Given the description of an element on the screen output the (x, y) to click on. 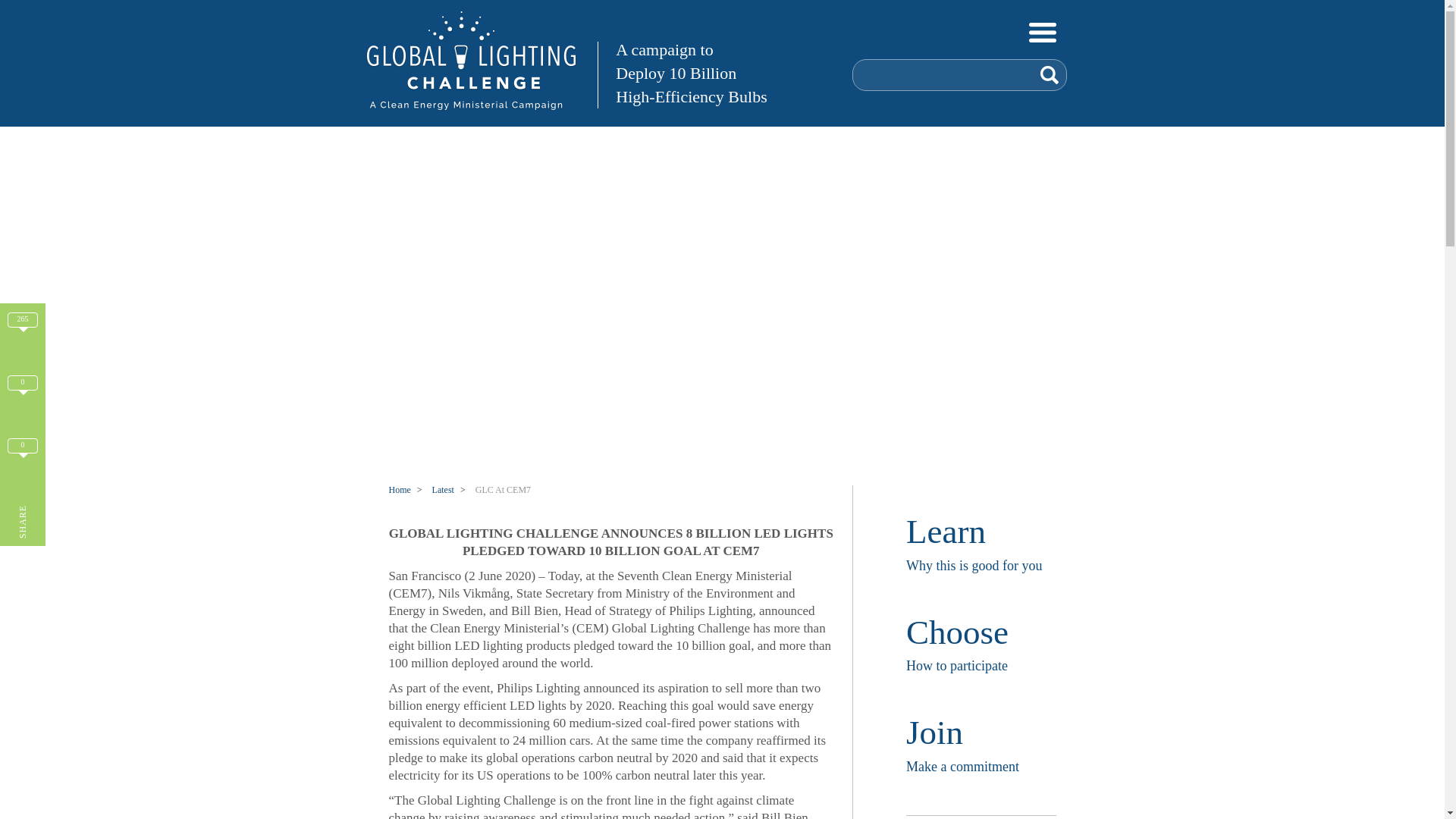
Join (933, 732)
Learn (945, 531)
Latest (443, 489)
Home (399, 489)
GLC At CEM7 (503, 489)
Choose (957, 632)
